Given the description of an element on the screen output the (x, y) to click on. 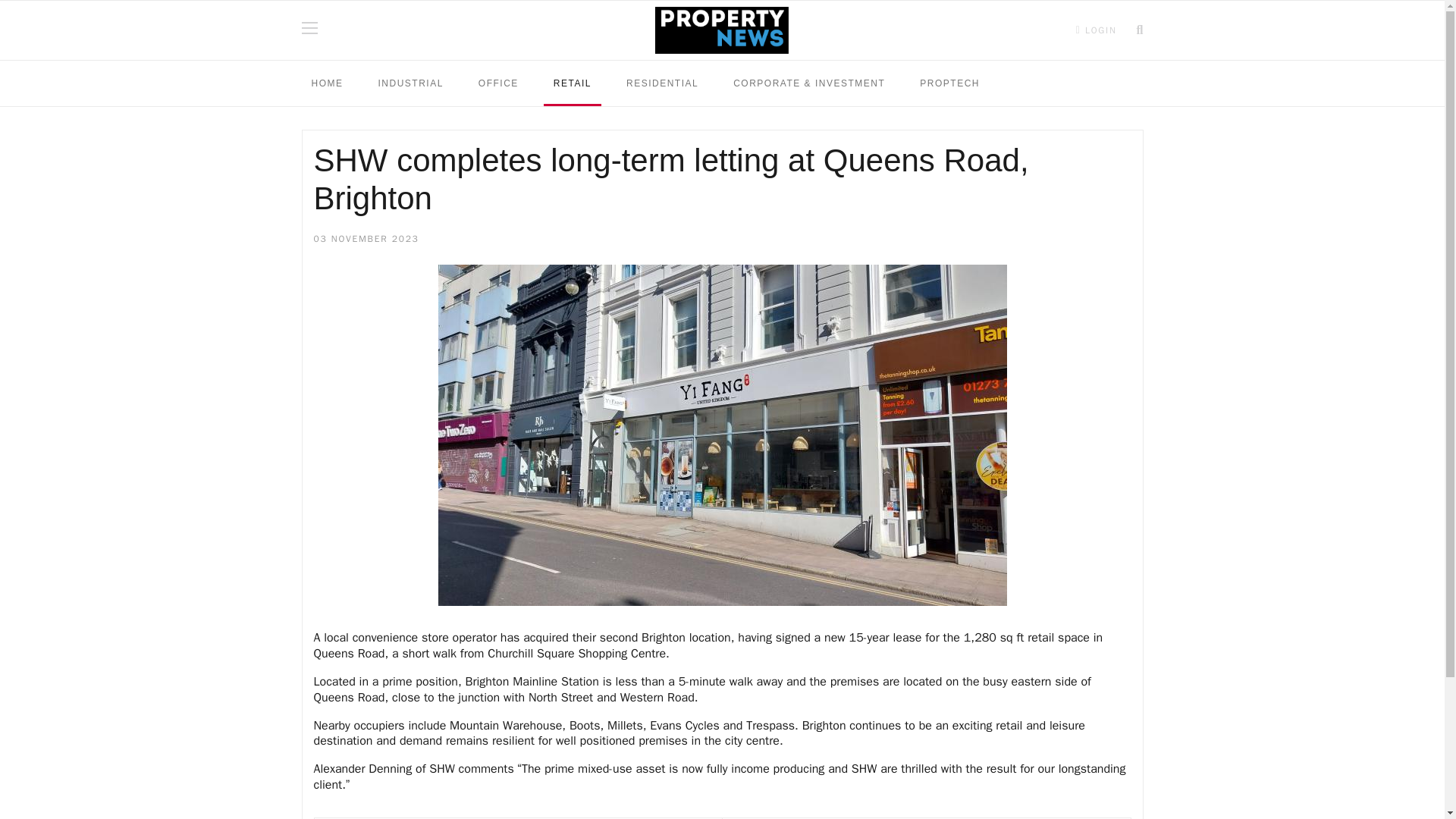
LOGIN (1096, 29)
HOME (327, 83)
Published: 03 November 2023 (366, 239)
INDUSTRIAL (410, 83)
RETAIL (572, 83)
OFFICE (498, 83)
PROPTECH (950, 83)
RESIDENTIAL (661, 83)
